Given the description of an element on the screen output the (x, y) to click on. 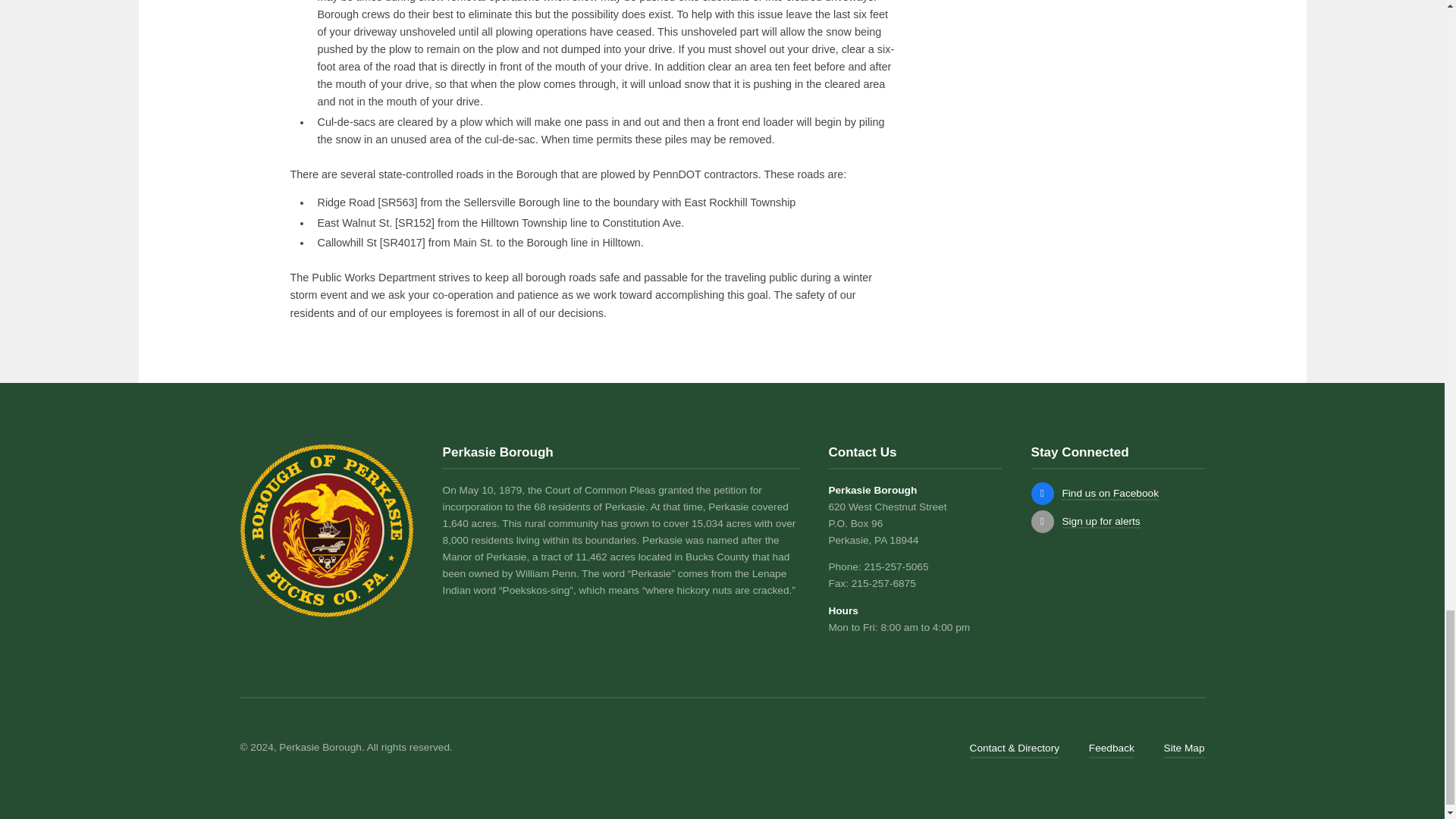
Find us on Facebook (1109, 493)
Find us on Facebook (1042, 493)
